Given the description of an element on the screen output the (x, y) to click on. 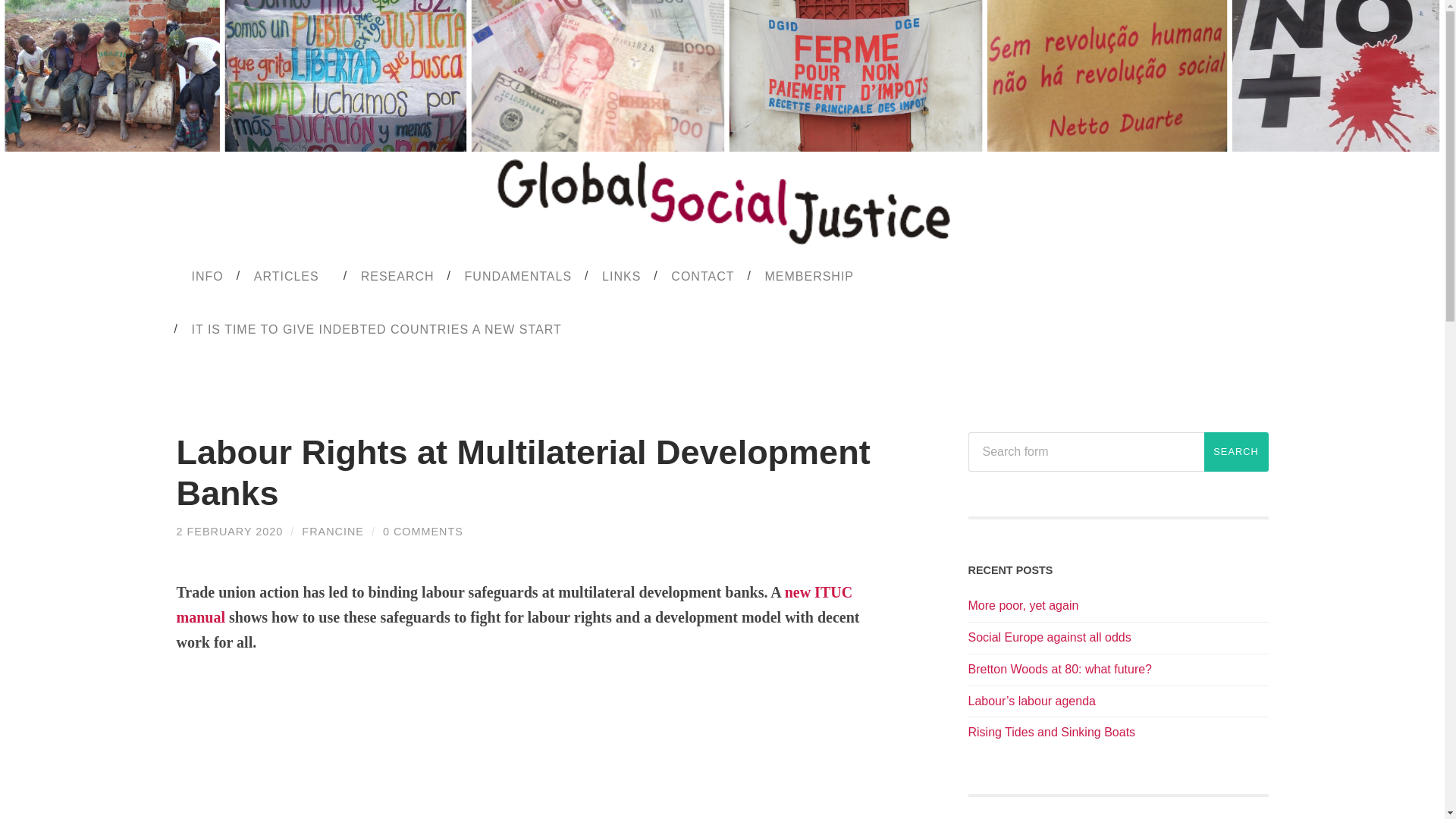
ARTICLES (292, 276)
0 COMMENTS (422, 531)
INFO (207, 276)
Labour Rights at Multilaterial Development Banks (522, 472)
Posts by Francine (332, 531)
CONTACT (702, 276)
More poor, yet again (1023, 604)
Labour Rights at Multilaterial Development Banks (229, 531)
Search (1236, 451)
new ITUC manual (513, 604)
MEMBERSHIP (809, 276)
2 FEBRUARY 2020 (229, 531)
Social Europe against all odds (1049, 636)
Bretton Woods at 80: what future? (1059, 668)
FUNDAMENTALS (518, 276)
